Given the description of an element on the screen output the (x, y) to click on. 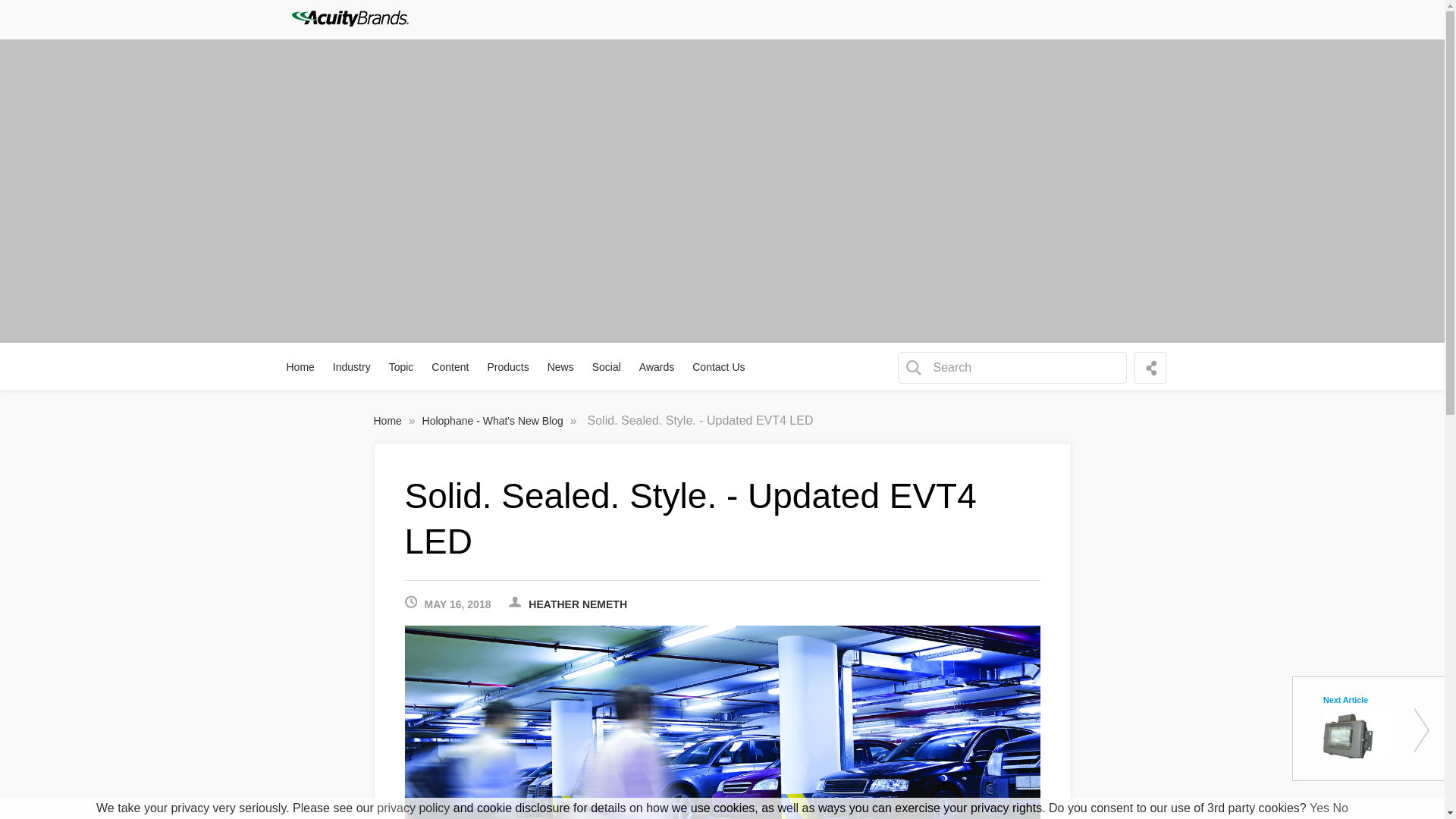
Industry (351, 366)
Home (301, 366)
Topic (401, 366)
